Given the description of an element on the screen output the (x, y) to click on. 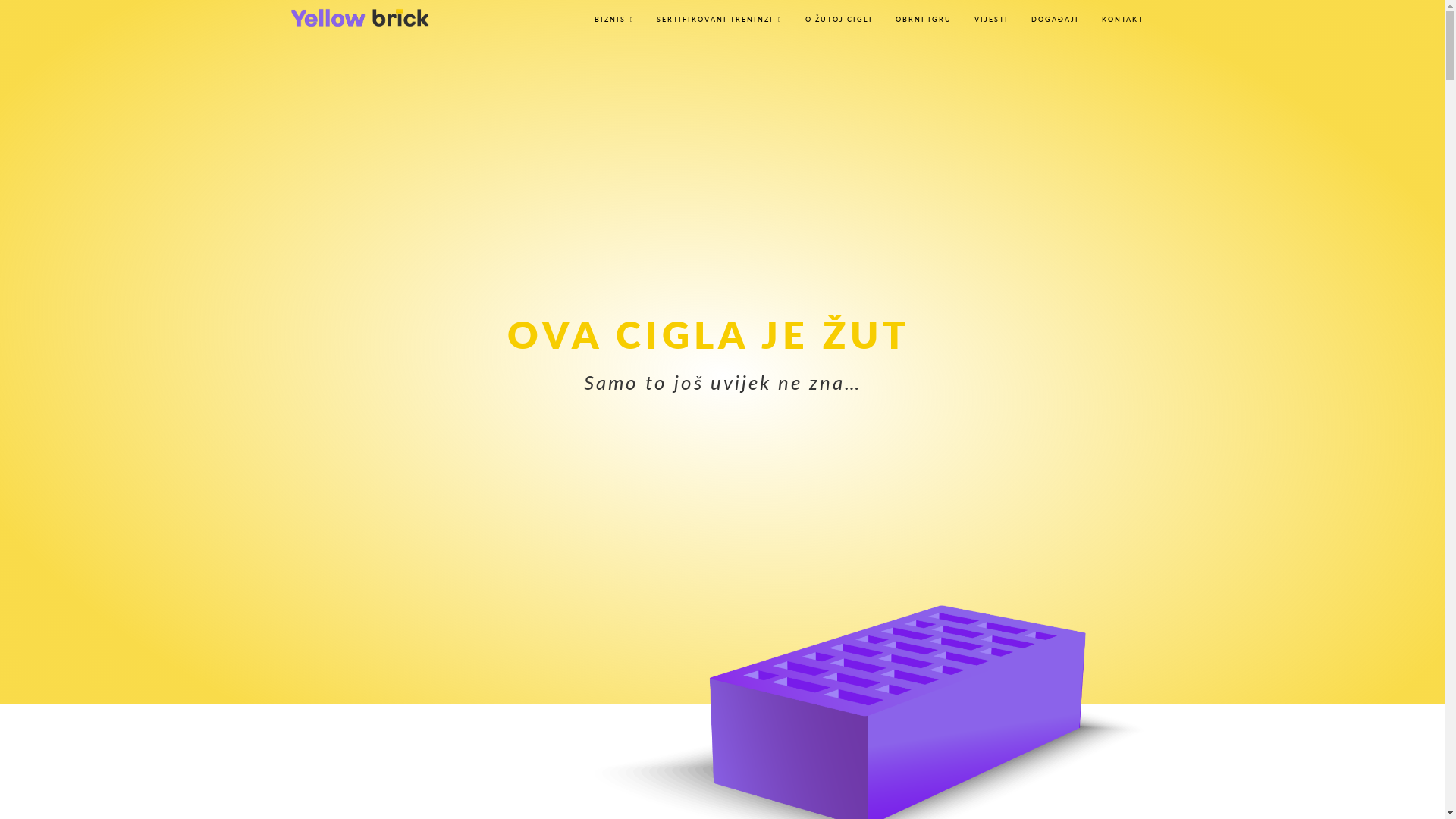
SERTIFIKOVANI TRENINZI Element type: text (719, 19)
VIJESTI Element type: text (991, 19)
OBRNI IGRU Element type: text (923, 19)
KONTAKT Element type: text (1122, 19)
BIZNIS Element type: text (614, 19)
